Given the description of an element on the screen output the (x, y) to click on. 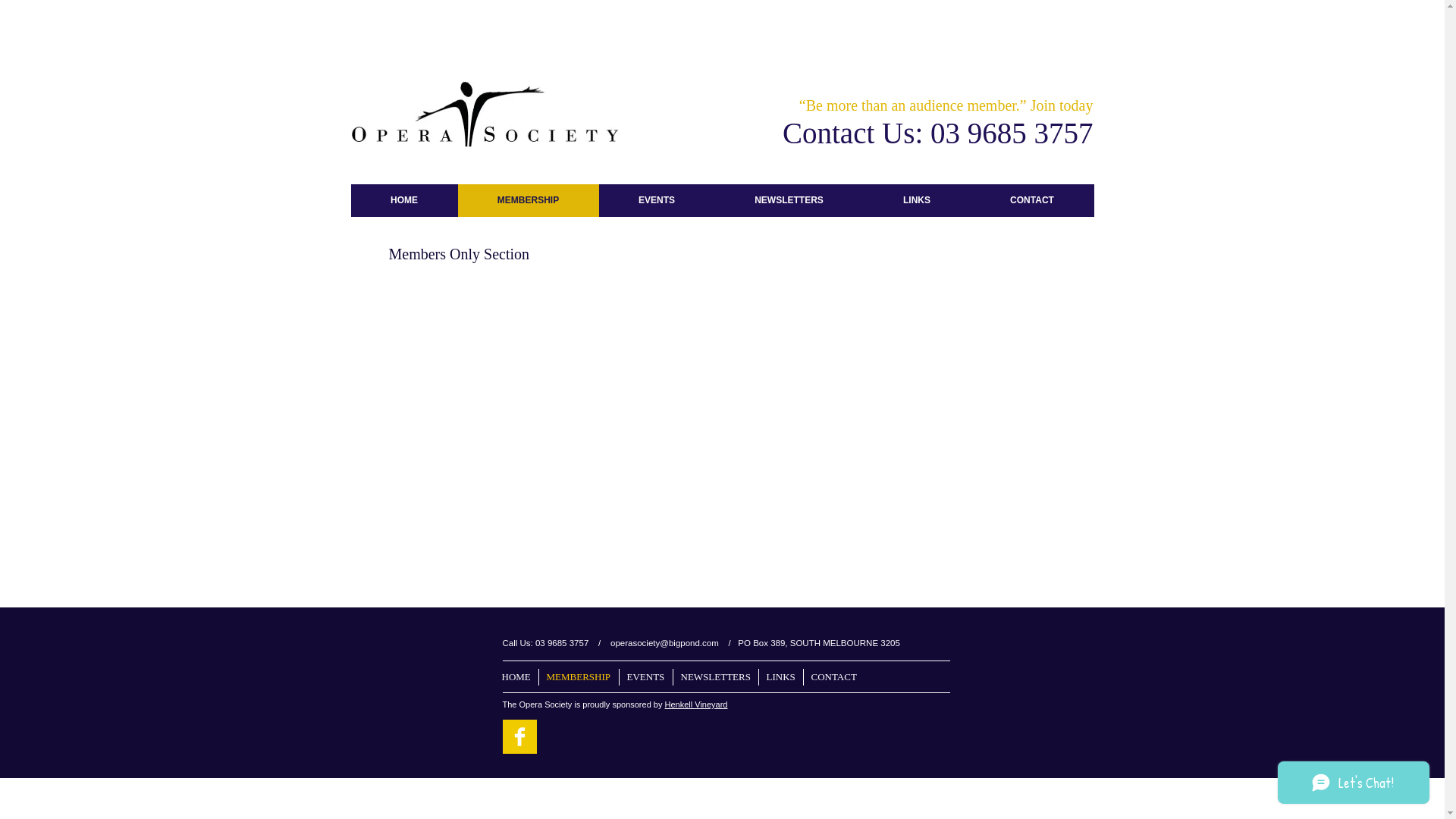
LINKS Element type: text (915, 200)
NEWSLETTERS Element type: text (714, 676)
LINKS Element type: text (780, 676)
MEMBERSHIP Element type: text (578, 676)
HOME Element type: text (516, 676)
HOME Element type: text (403, 200)
logo.jpg Element type: hover (483, 111)
MEMBERSHIP Element type: text (528, 200)
operasociety@bigpond.com Element type: text (664, 642)
CONTACT Element type: text (832, 676)
CONTACT Element type: text (1032, 200)
NEWSLETTERS Element type: text (788, 200)
Henkell Vineyard Element type: text (696, 704)
